Given the description of an element on the screen output the (x, y) to click on. 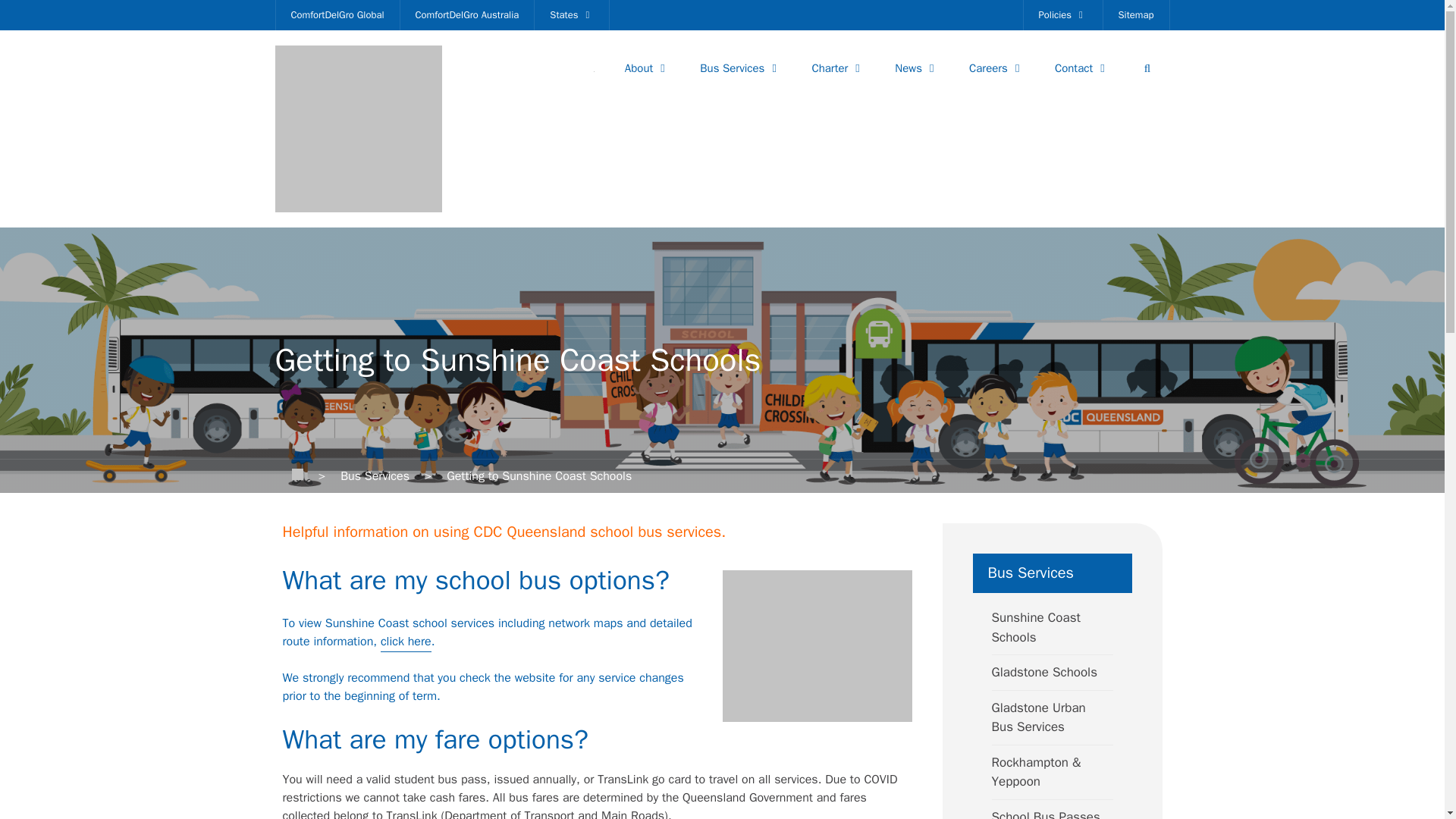
ComfortDelGro Global (337, 15)
States (571, 15)
ComfortDelGro Australia (467, 15)
Sitemap (1135, 15)
About (647, 67)
Bus Services (740, 67)
Policies (1062, 15)
Charter (837, 67)
